Given the description of an element on the screen output the (x, y) to click on. 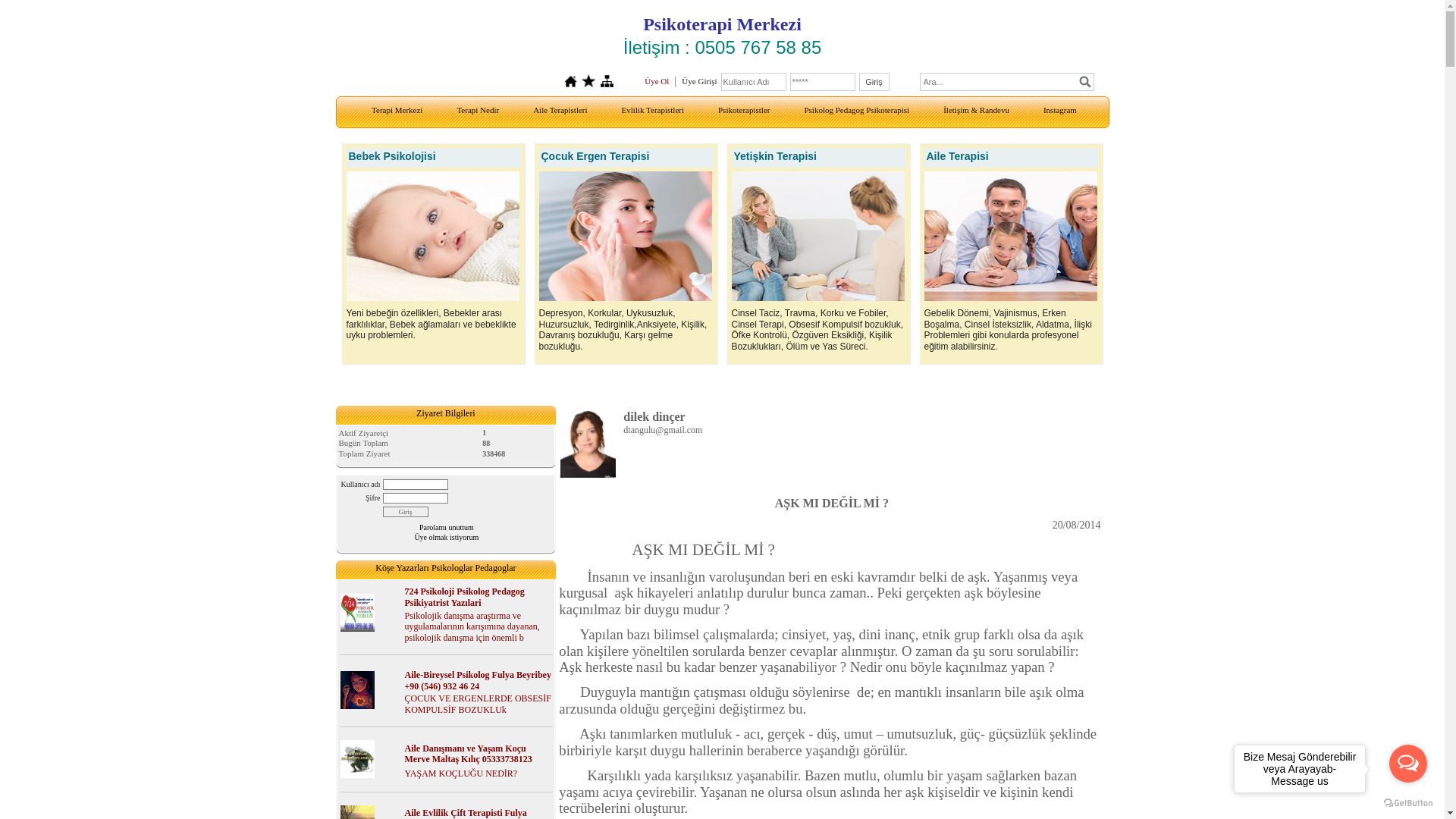
Aile-Bireysel Psikolog Fulya Beyribey +90 (546) 932 46 24 Element type: text (477, 680)
Terapi Nedir Element type: text (475, 110)
Terapi Merkezi Element type: text (394, 110)
Evlilik Terapistleri Element type: text (650, 110)
Aile Terapistleri Element type: text (557, 110)
Instagram Element type: text (1058, 110)
Psikoterapistler Element type: text (741, 110)
Psikolog Pedagog Psikoterapisi Element type: text (854, 110)
